Given the description of an element on the screen output the (x, y) to click on. 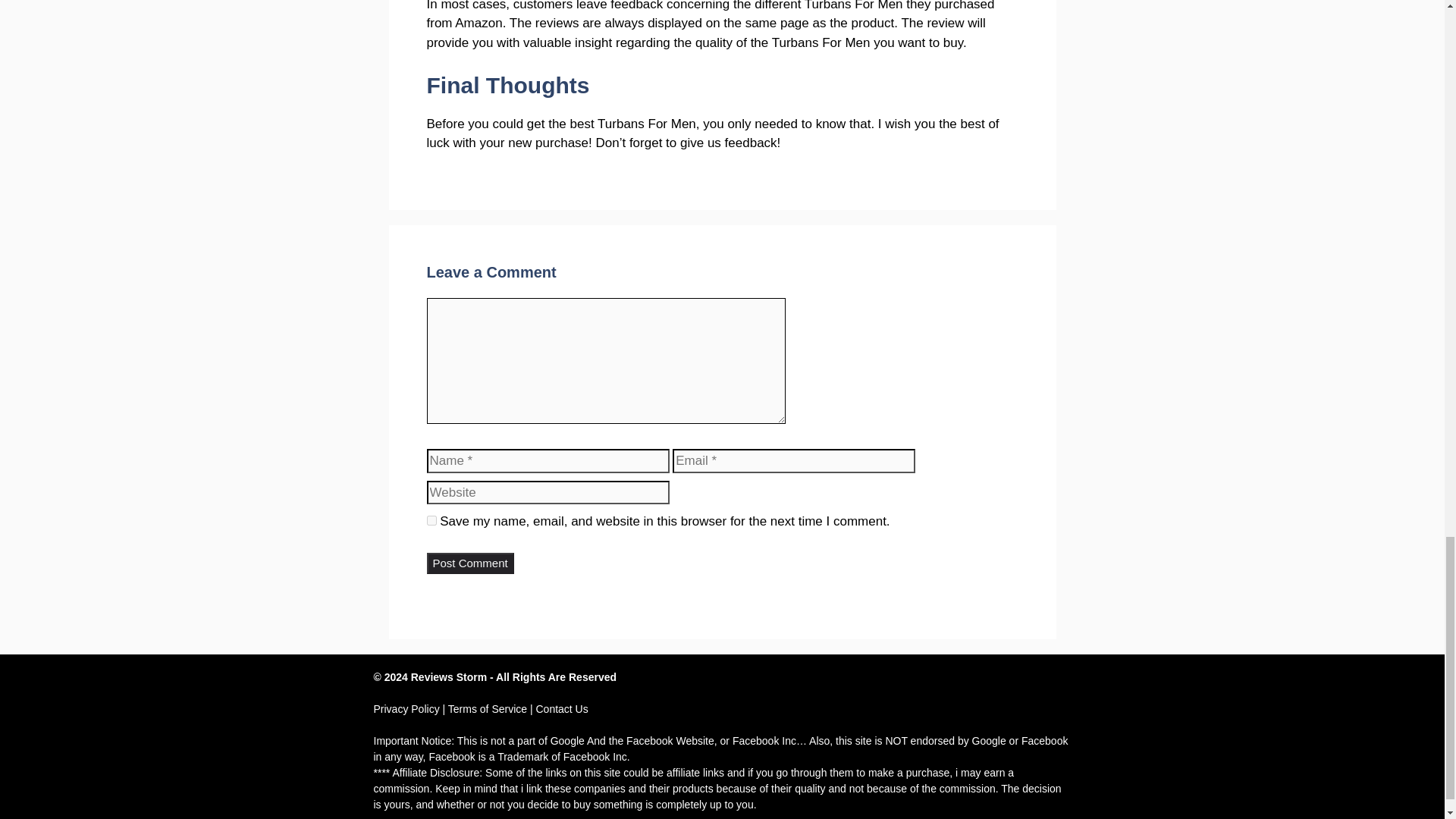
Post Comment (469, 563)
Contact Us (561, 708)
Reviews Storm (448, 676)
yes (430, 520)
Privacy Policy (405, 708)
Post Comment (469, 563)
Terms of Service (487, 708)
